Given the description of an element on the screen output the (x, y) to click on. 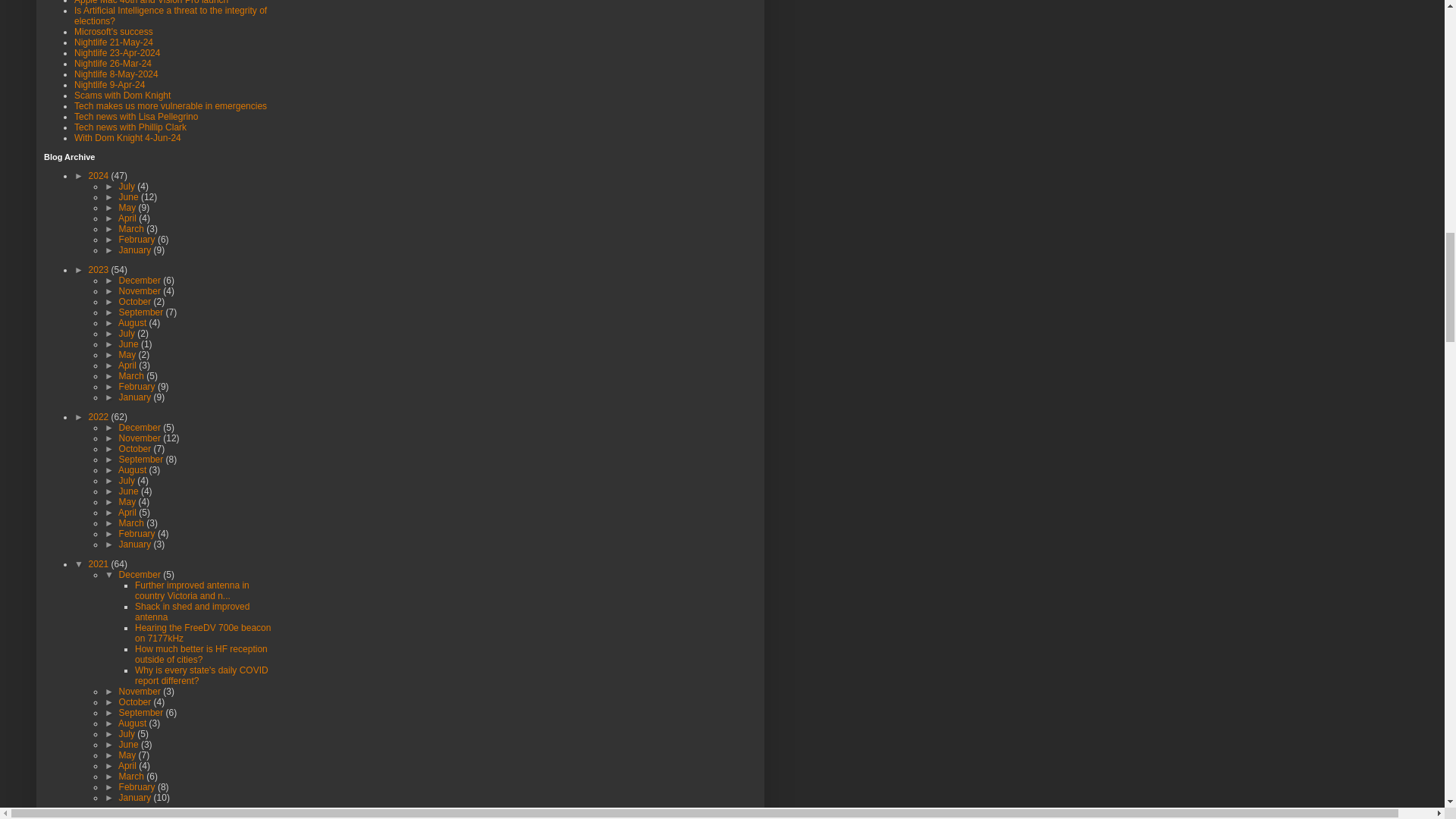
Nightlife 8-May-2024 (116, 73)
Apple Mac 40th and Vision Pro launch (151, 2)
Tech news with Lisa Pellegrino (136, 116)
Scams with Dom Knight (122, 95)
Tech makes us more vulnerable in emergencies (170, 105)
Nightlife 26-Mar-24 (112, 63)
Nightlife 23-Apr-2024 (117, 52)
Nightlife 21-May-24 (113, 41)
2024 (100, 175)
Nightlife 9-Apr-24 (109, 84)
July (128, 185)
Tech news with Phillip Clark (130, 127)
With Dom Knight 4-Jun-24 (127, 137)
Microsoft's success (113, 31)
